Given the description of an element on the screen output the (x, y) to click on. 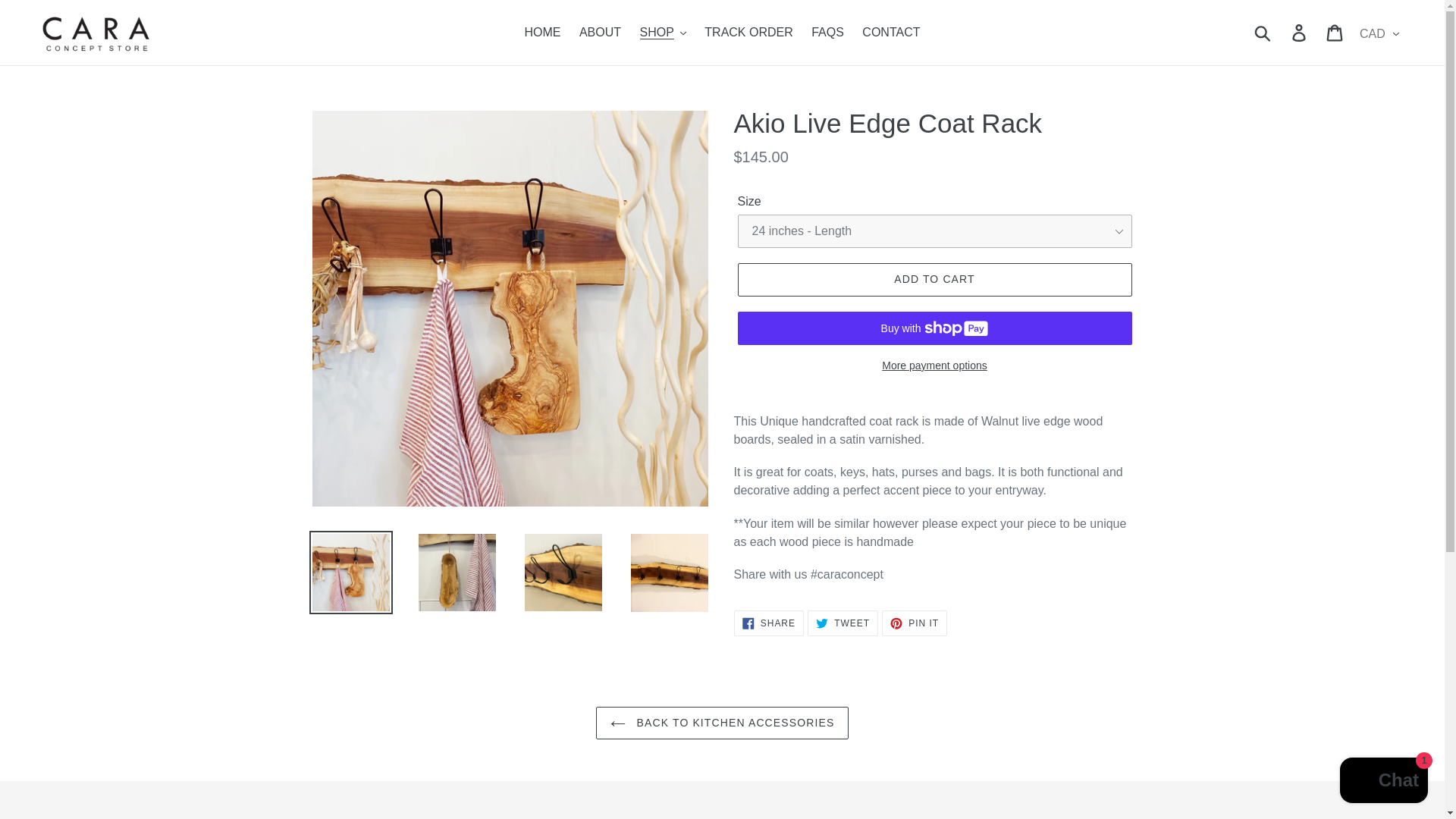
Log in (1299, 32)
Cart (1335, 32)
ADD TO CART (933, 279)
FAQS (827, 32)
CONTACT (890, 32)
ABOUT (600, 32)
TRACK ORDER (748, 32)
HOME (541, 32)
Shopify online store chat (1383, 781)
Submit (1263, 32)
More payment options (933, 365)
